Given the description of an element on the screen output the (x, y) to click on. 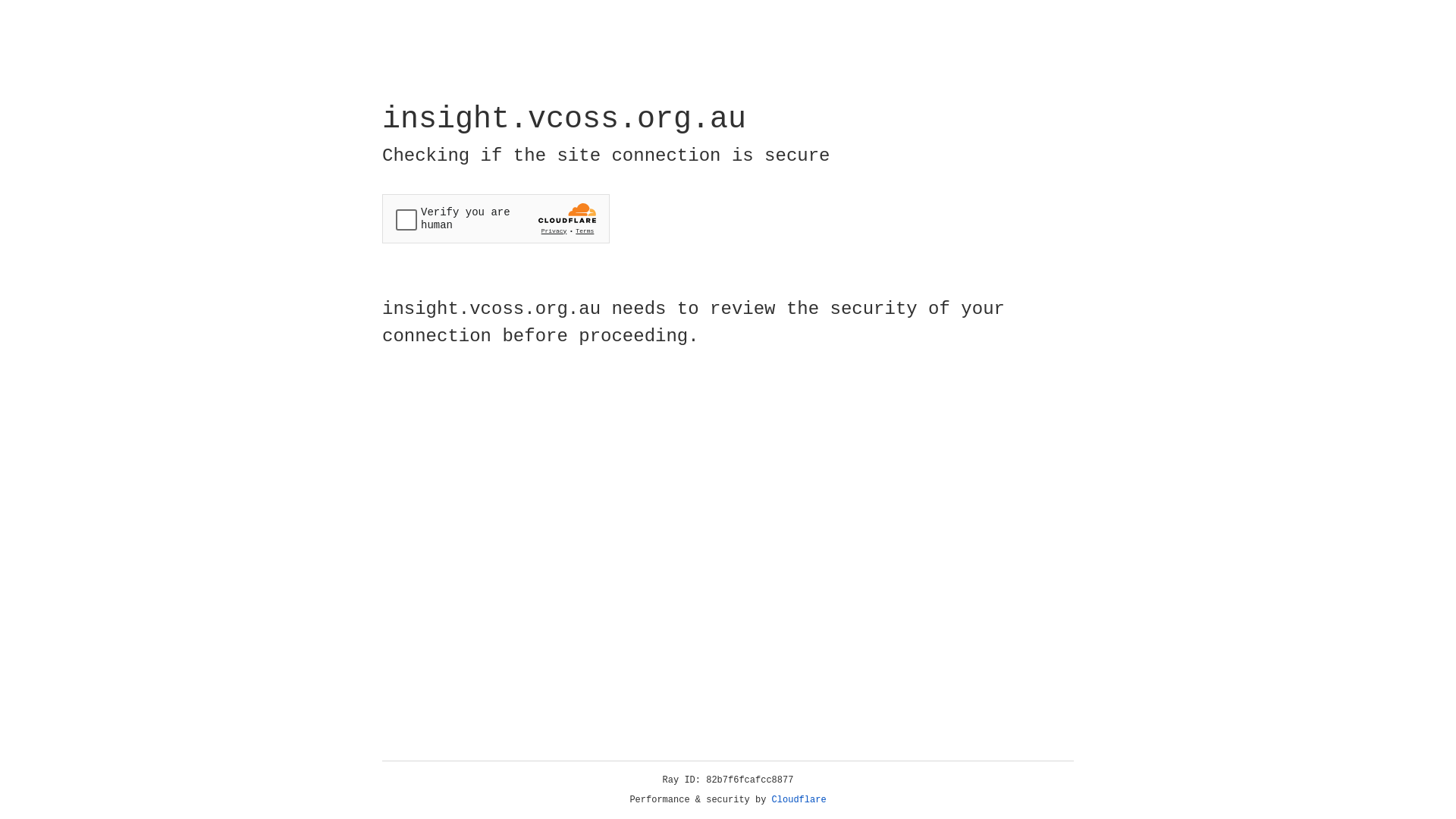
Cloudflare Element type: text (798, 799)
Widget containing a Cloudflare security challenge Element type: hover (495, 218)
